Given the description of an element on the screen output the (x, y) to click on. 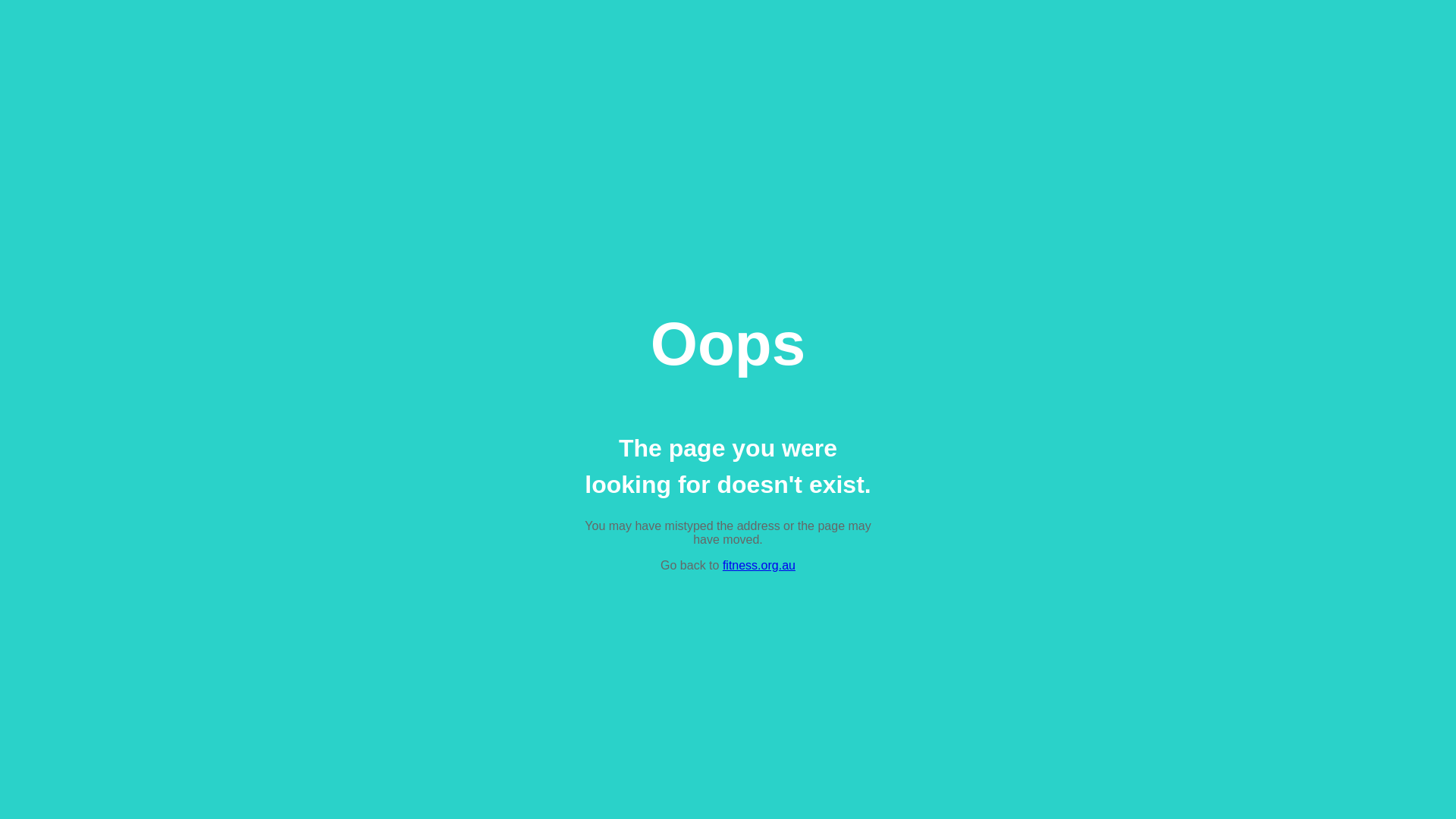
fitness.org.au Element type: text (758, 564)
